Given the description of an element on the screen output the (x, y) to click on. 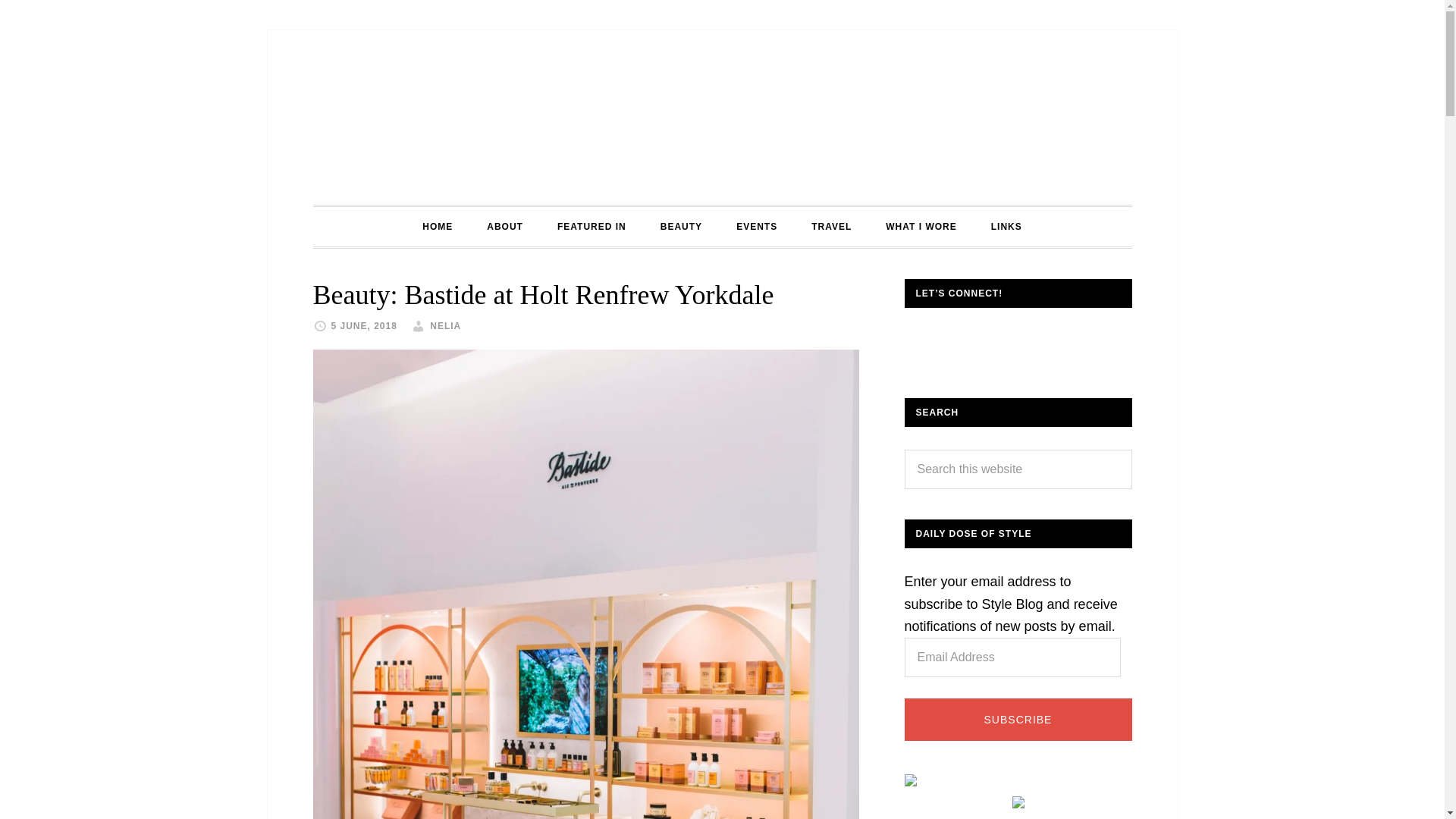
HOME (437, 226)
WHAT I WORE (920, 226)
SUBSCRIBE (1017, 719)
LINKS (1005, 226)
TRAVEL (831, 226)
EVENTS (756, 226)
NELIA (445, 326)
BEAUTY (681, 226)
